Given the description of an element on the screen output the (x, y) to click on. 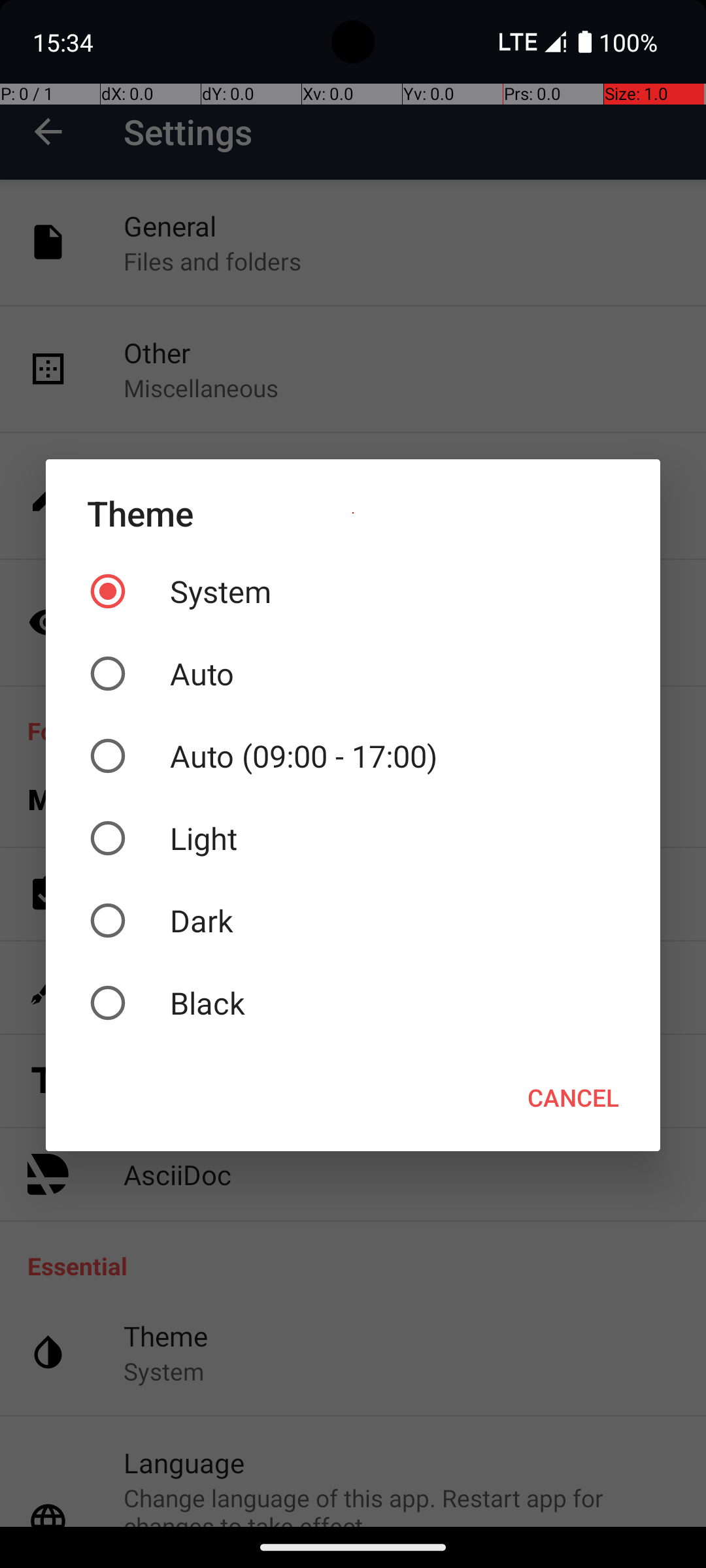
Auto Element type: android.widget.CheckedTextView (352, 673)
Auto (09:00 - 17:00) Element type: android.widget.CheckedTextView (352, 755)
Light Element type: android.widget.CheckedTextView (352, 838)
Dark Element type: android.widget.CheckedTextView (352, 920)
Black Element type: android.widget.CheckedTextView (352, 1002)
